Given the description of an element on the screen output the (x, y) to click on. 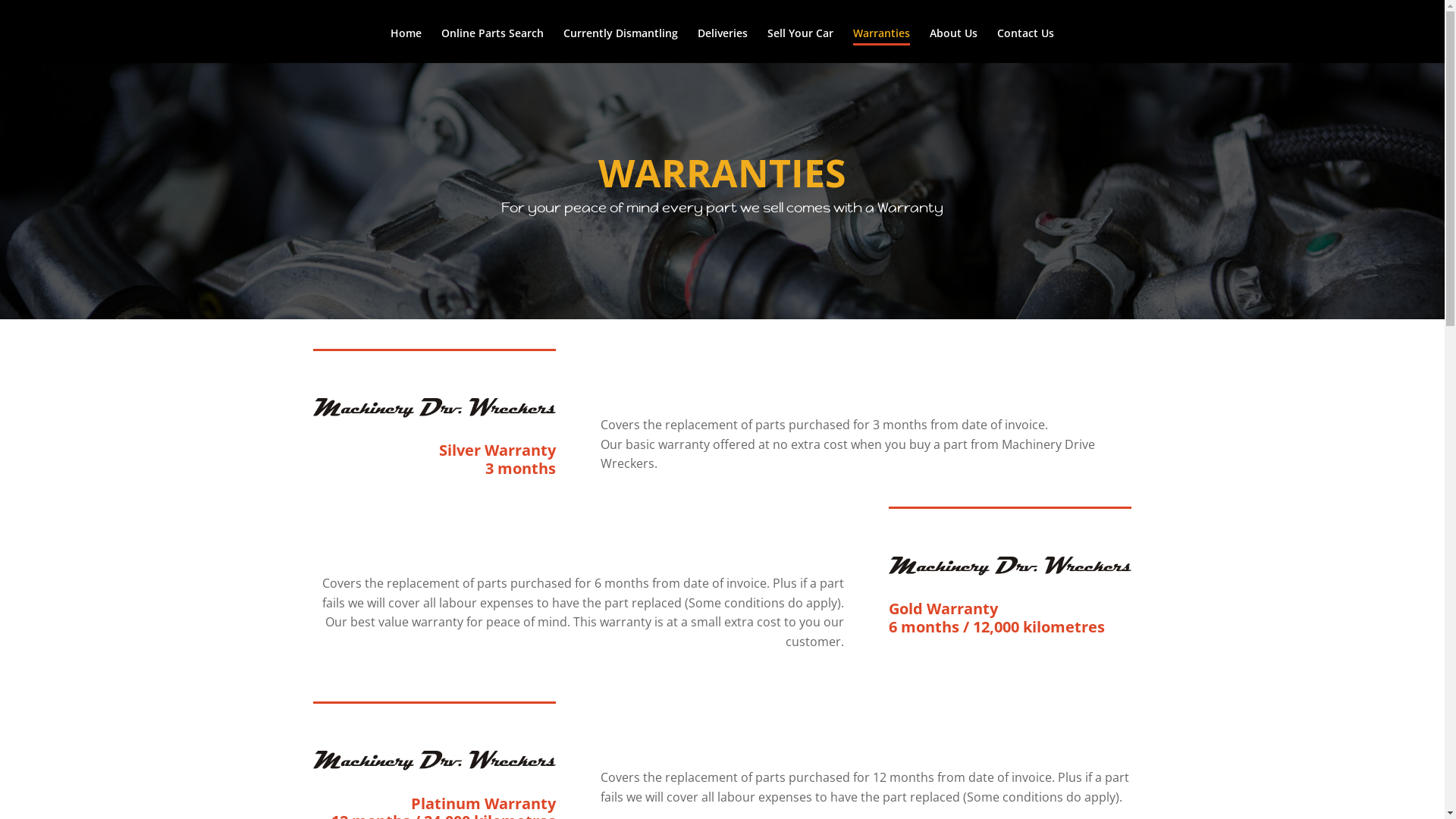
About Us Element type: text (953, 44)
Home Element type: text (405, 44)
Sell Your Car Element type: text (800, 44)
Warranties Element type: text (881, 44)
Online Parts Search Element type: text (492, 44)
Deliveries Element type: text (722, 44)
Contact Us Element type: text (1025, 44)
Currently Dismantling Element type: text (620, 44)
